Given the description of an element on the screen output the (x, y) to click on. 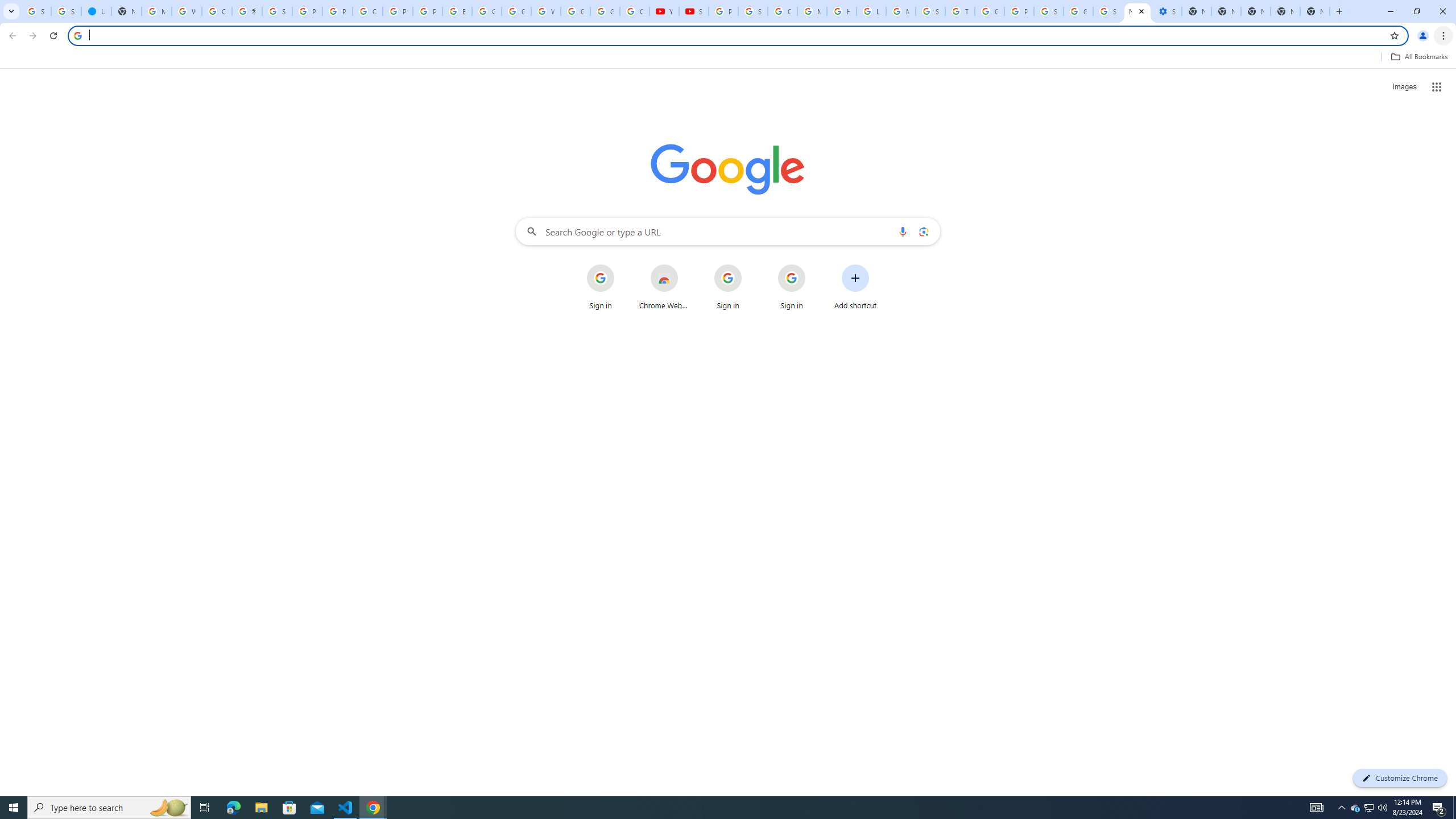
Settings - Performance (1166, 11)
Create your Google Account (216, 11)
Welcome to My Activity (545, 11)
Google Cybersecurity Innovations - Google Safety Center (1077, 11)
Google Ads - Sign in (989, 11)
Google Slides: Sign-in (486, 11)
New Tab (1284, 11)
New Tab (1314, 11)
